Given the description of an element on the screen output the (x, y) to click on. 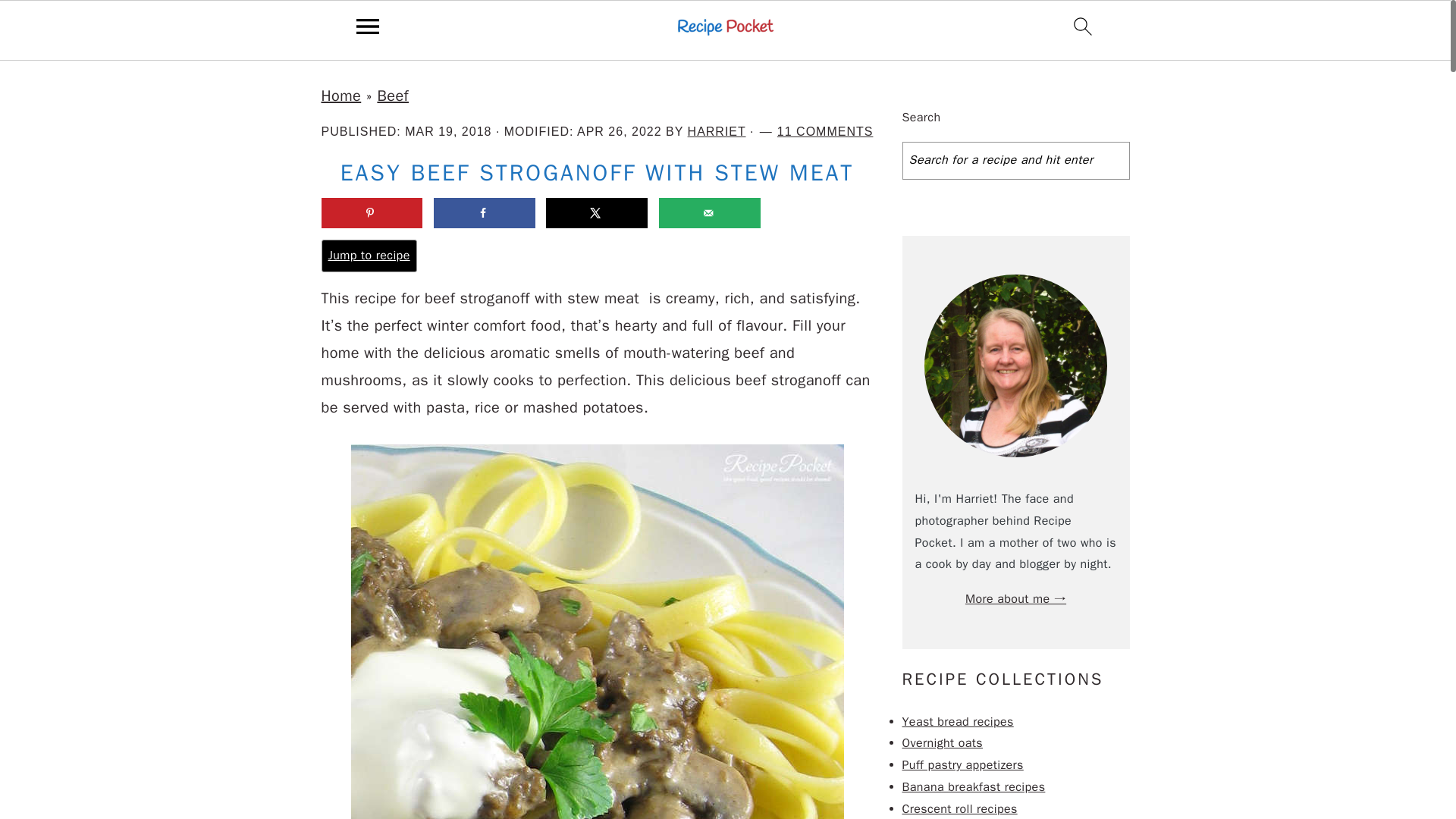
Save to Pinterest (372, 213)
HARRIET (716, 131)
Share on Facebook (484, 213)
Share on X (596, 213)
Send over email (709, 213)
Home (341, 95)
search icon (1083, 26)
Jump to recipe (368, 255)
menu icon (368, 26)
11 COMMENTS (825, 131)
Beef (393, 95)
